Given the description of an element on the screen output the (x, y) to click on. 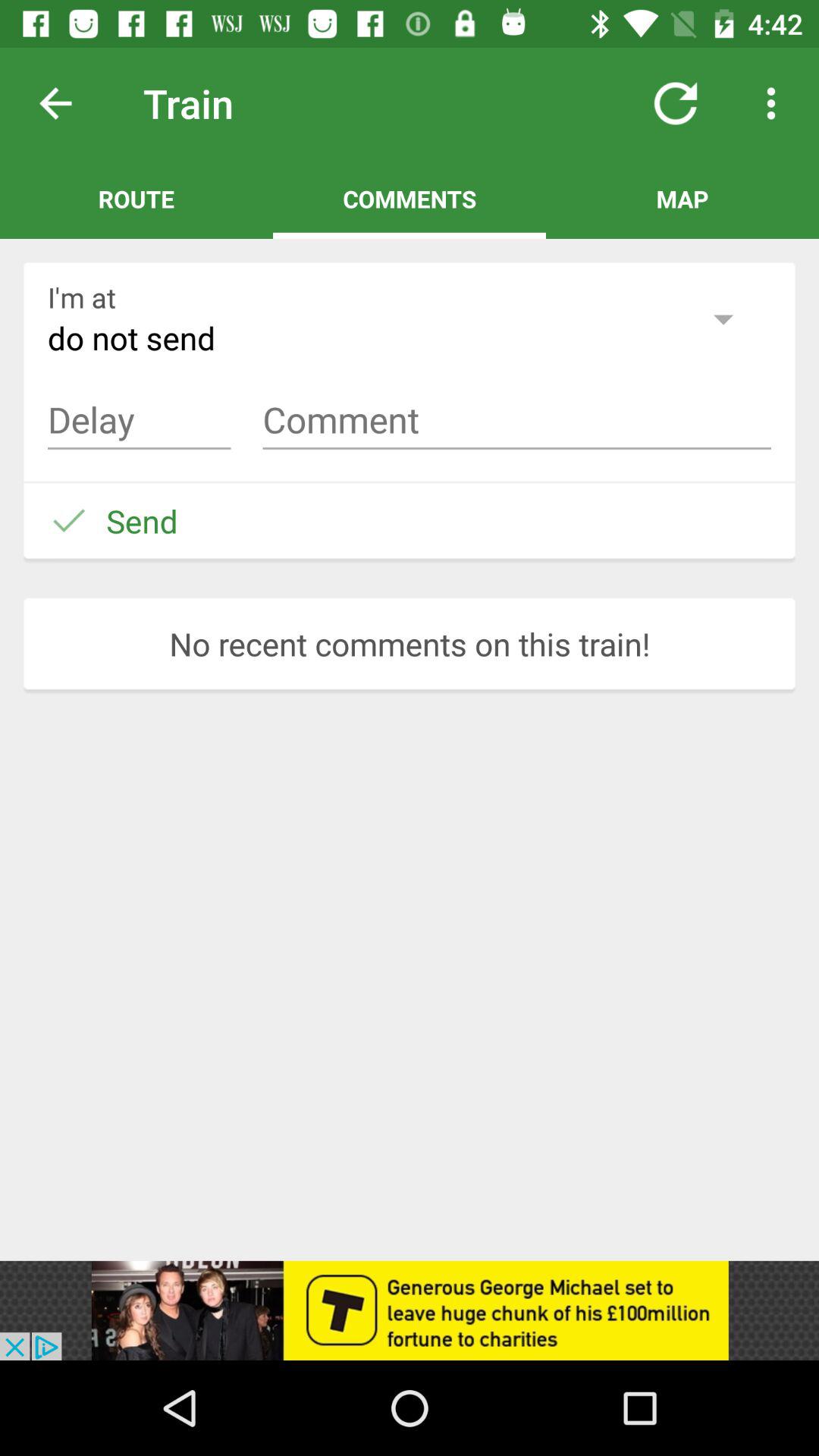
enter comment (516, 420)
